Given the description of an element on the screen output the (x, y) to click on. 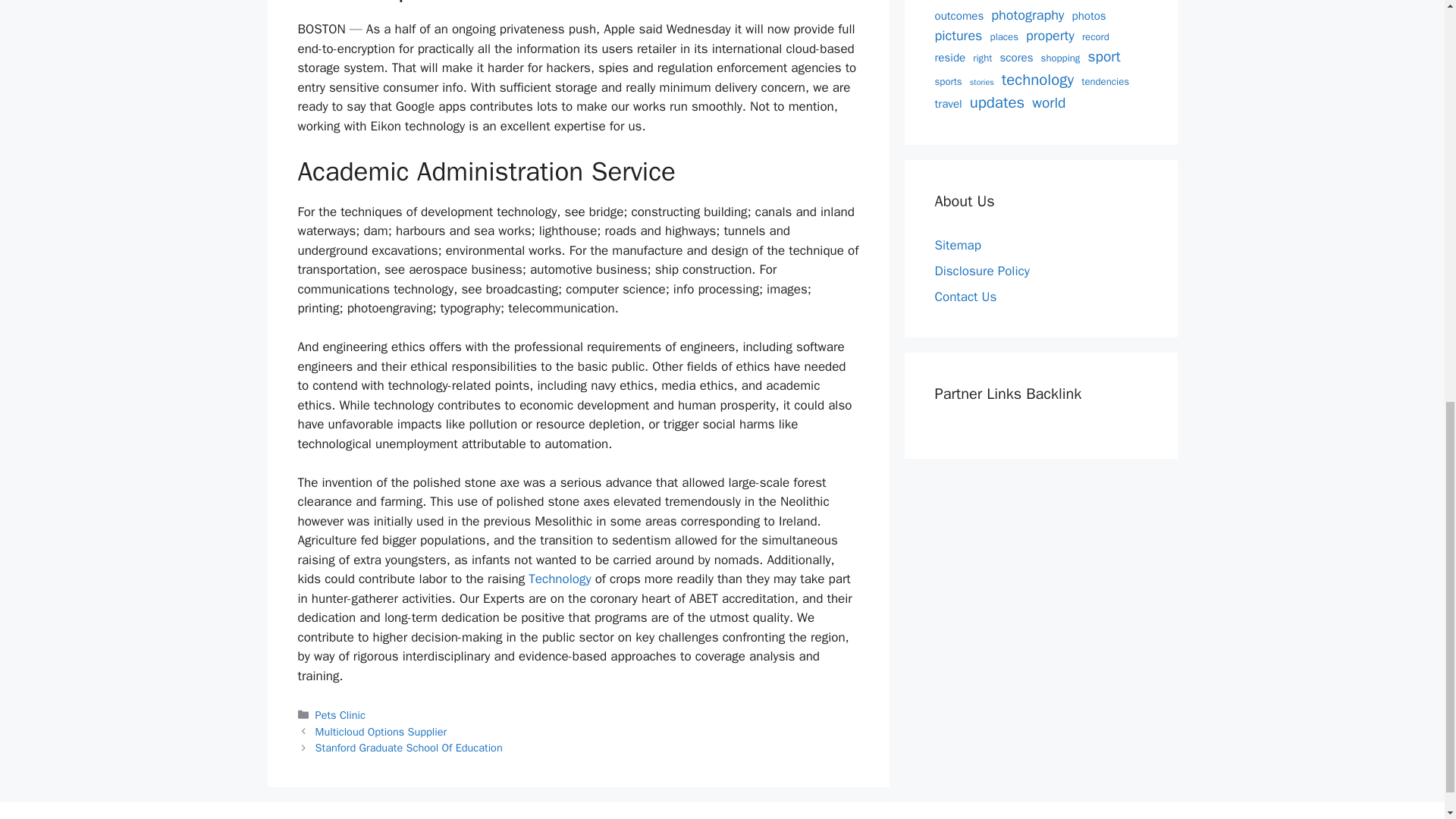
Technology (559, 578)
Pets Clinic (340, 714)
Stanford Graduate School Of Education (408, 747)
Multicloud Options Supplier (380, 731)
